Given the description of an element on the screen output the (x, y) to click on. 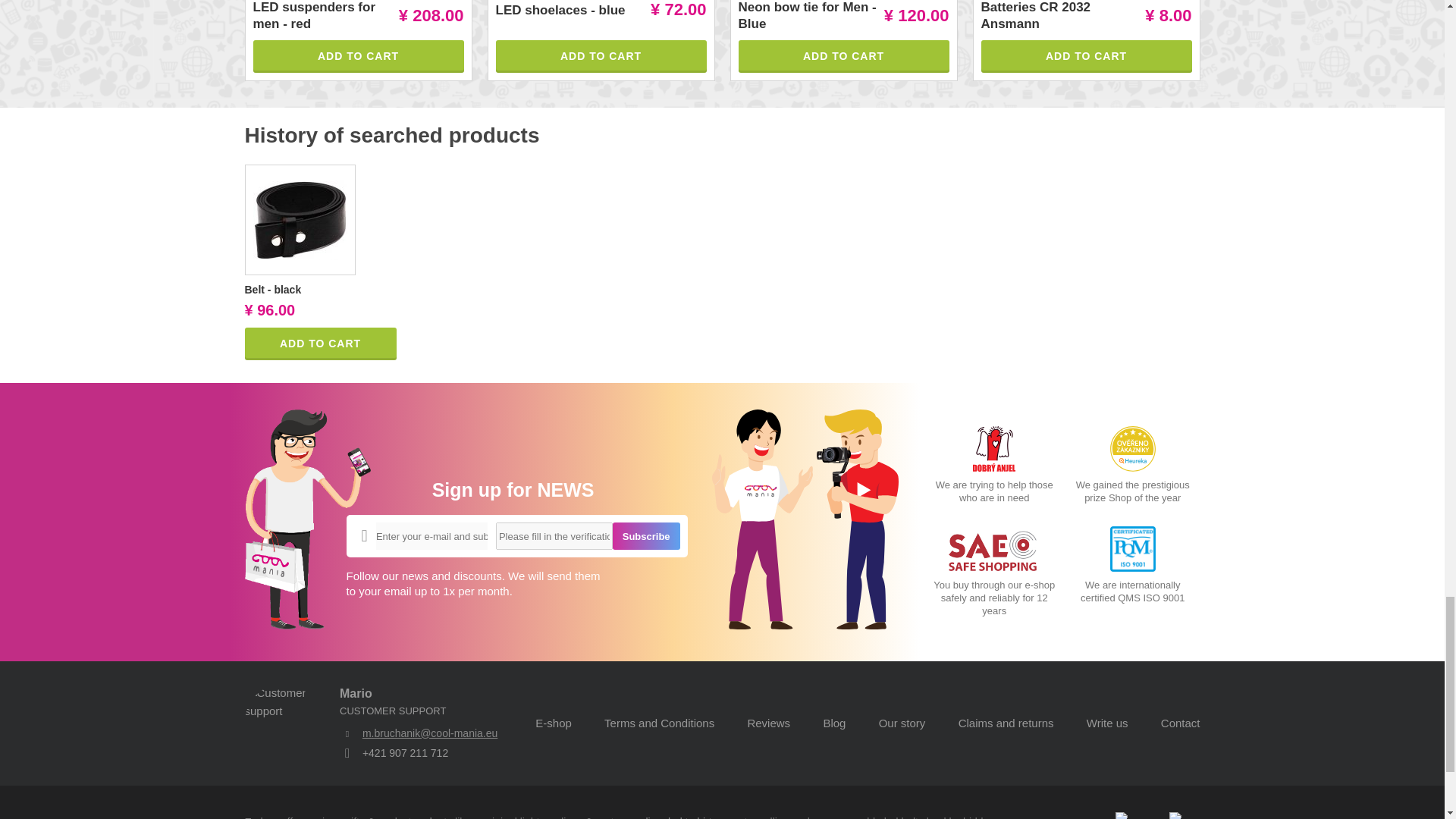
Subscribe (645, 535)
